Given the description of an element on the screen output the (x, y) to click on. 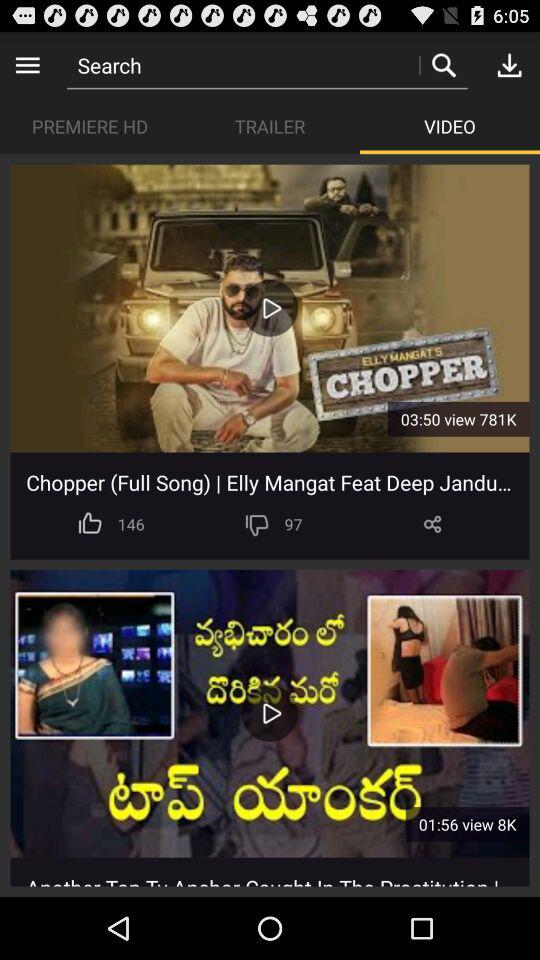
downvote the video (256, 523)
